Given the description of an element on the screen output the (x, y) to click on. 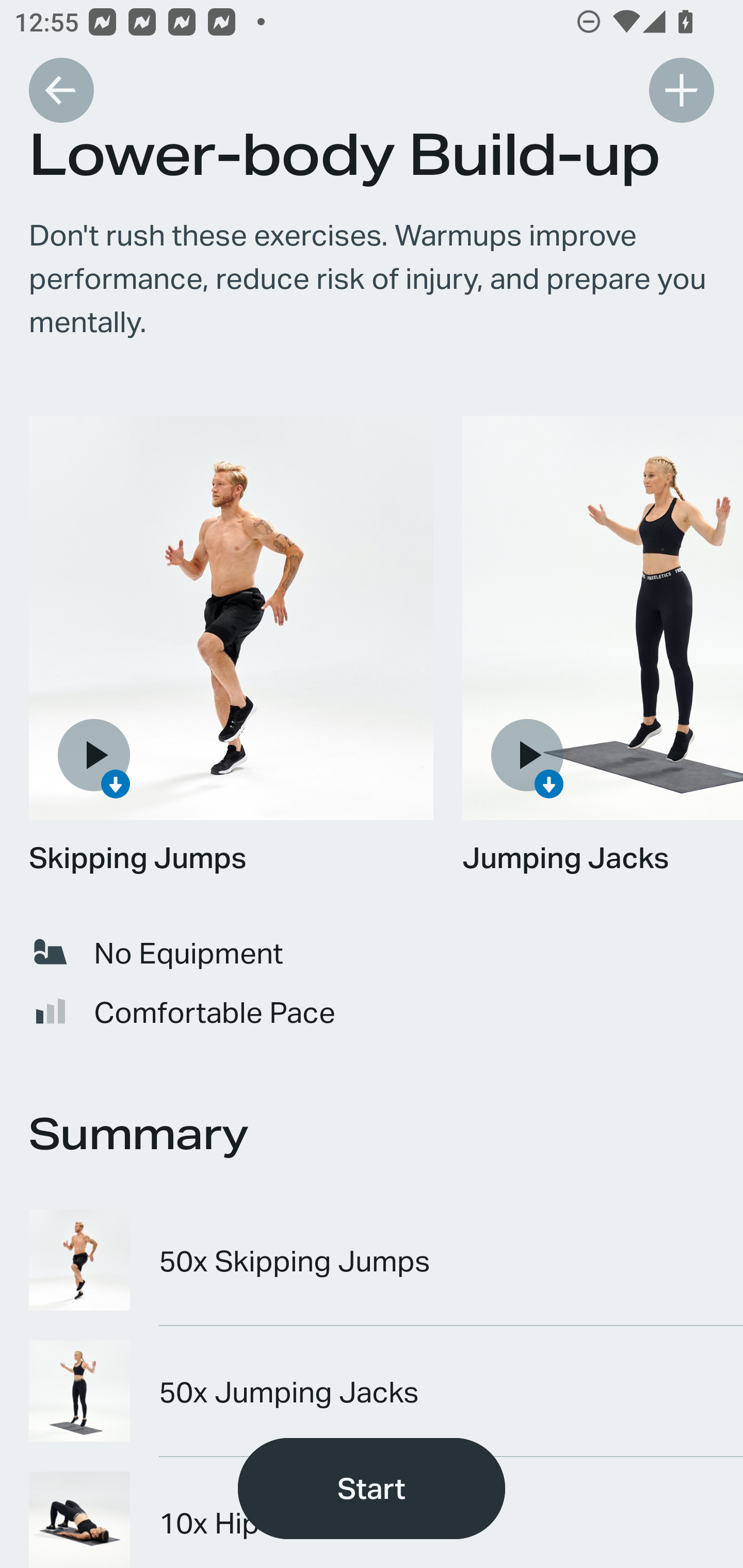
Go back (60, 90)
Log (681, 90)
Start (371, 1488)
